Given the description of an element on the screen output the (x, y) to click on. 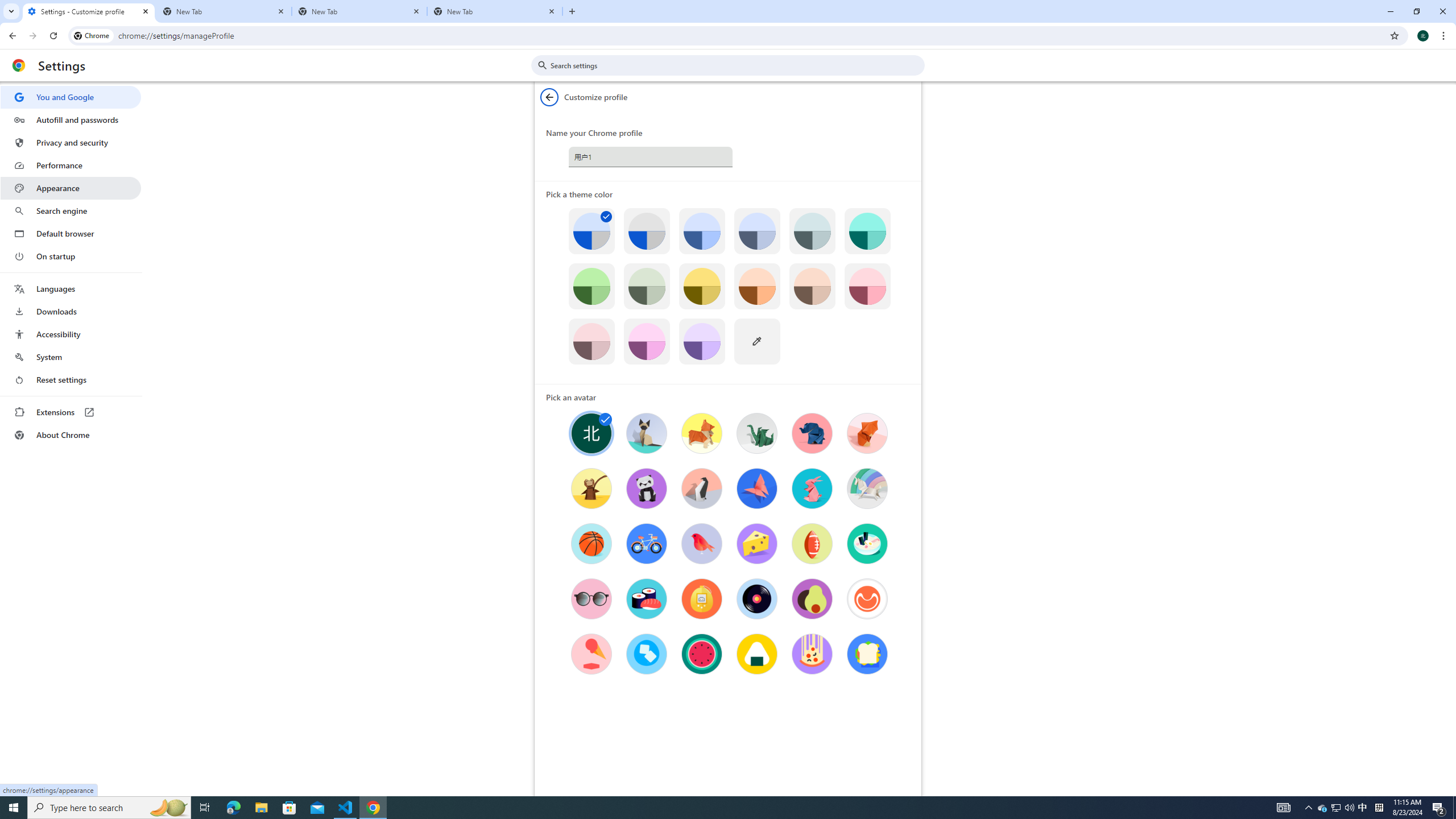
AutomationID: menu (71, 265)
Languages (70, 288)
New Tab (359, 11)
Downloads (70, 311)
Settings - Customize profile (88, 11)
You and Google (70, 96)
Performance (70, 164)
Search settings (735, 65)
On startup (70, 255)
